Given the description of an element on the screen output the (x, y) to click on. 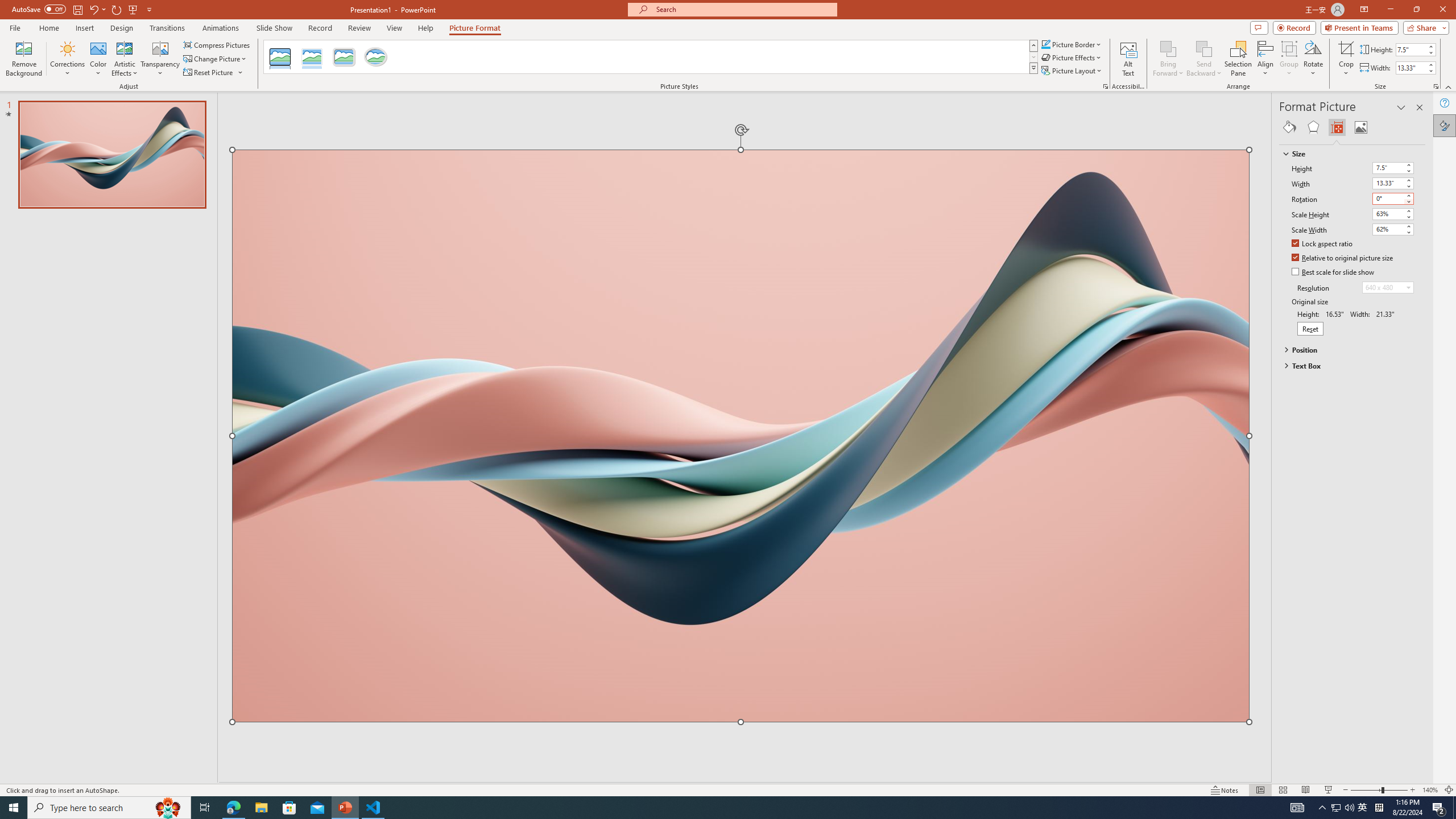
Picture Format (475, 28)
Scale Width (1393, 229)
Wavy 3D art (740, 435)
Picture (1361, 126)
Rotate (1312, 58)
Color (97, 58)
Compress Pictures... (217, 44)
Fill & Line (1288, 126)
Format Picture (1444, 125)
